Given the description of an element on the screen output the (x, y) to click on. 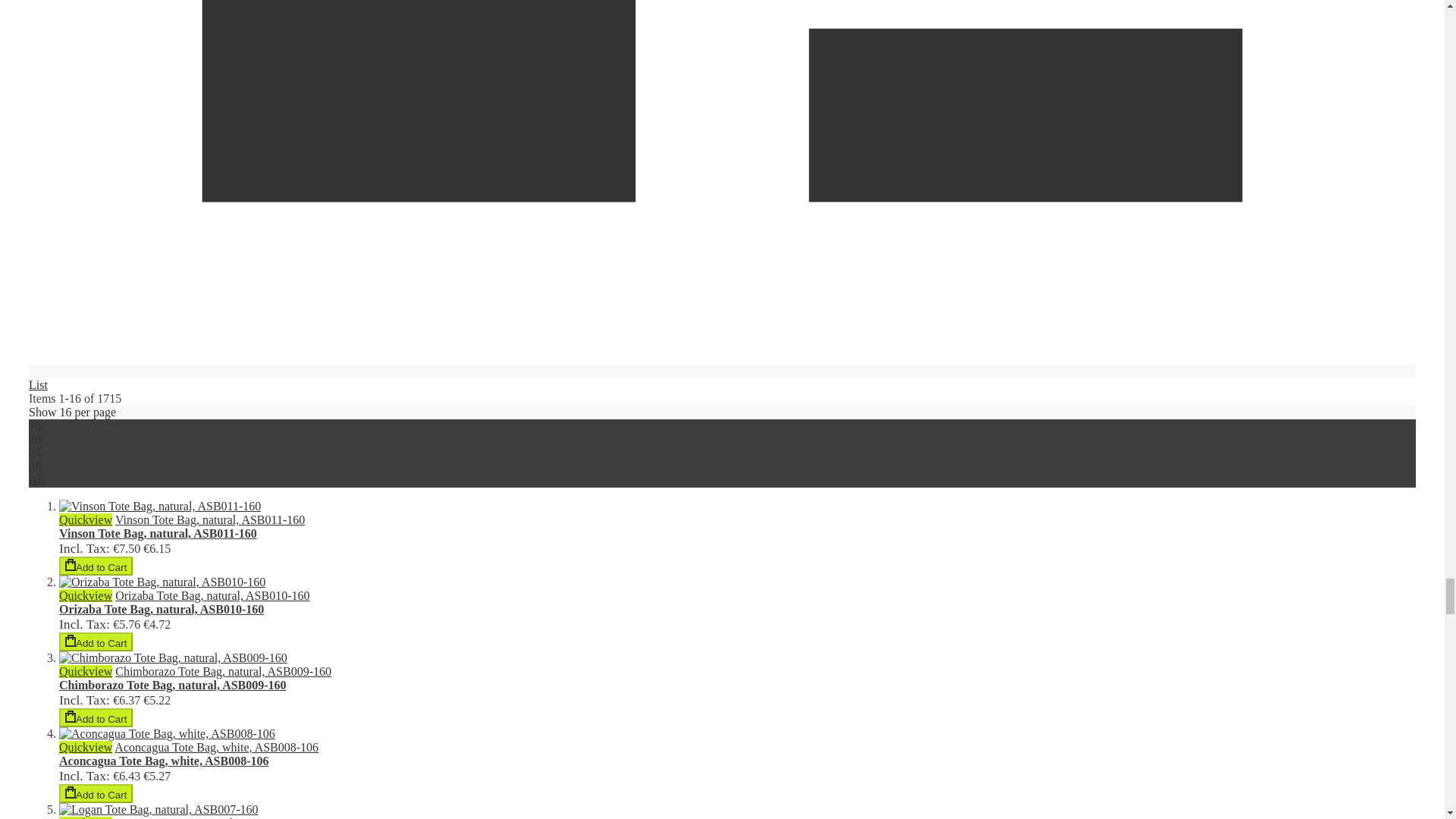
Logan Tote Bag, natural, ASB007-160 (208, 817)
Chimborazo Tote Bag, natural, ASB009-160 (223, 671)
Vinson Tote Bag, natural, ASB011-160 (209, 519)
Add to Cart (95, 793)
List (722, 377)
Add to Cart (95, 565)
Add to Cart (95, 717)
Add to Cart (95, 641)
Aconcagua Tote Bag, white, ASB008-106 (216, 747)
Orizaba Tote Bag, natural, ASB010-160 (211, 594)
